Given the description of an element on the screen output the (x, y) to click on. 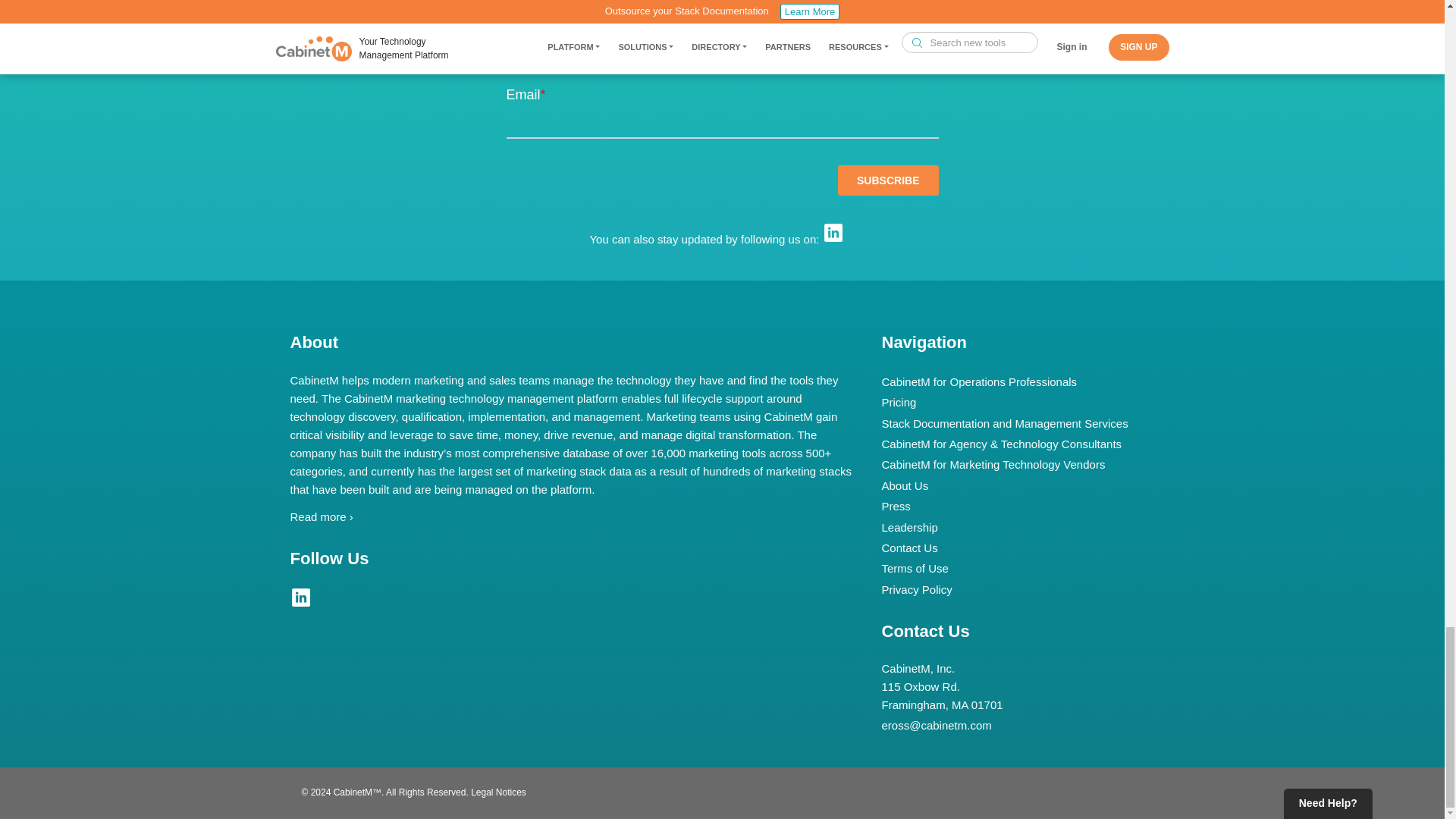
SUBSCRIBE (887, 180)
SUBSCRIBE (887, 180)
